Given the description of an element on the screen output the (x, y) to click on. 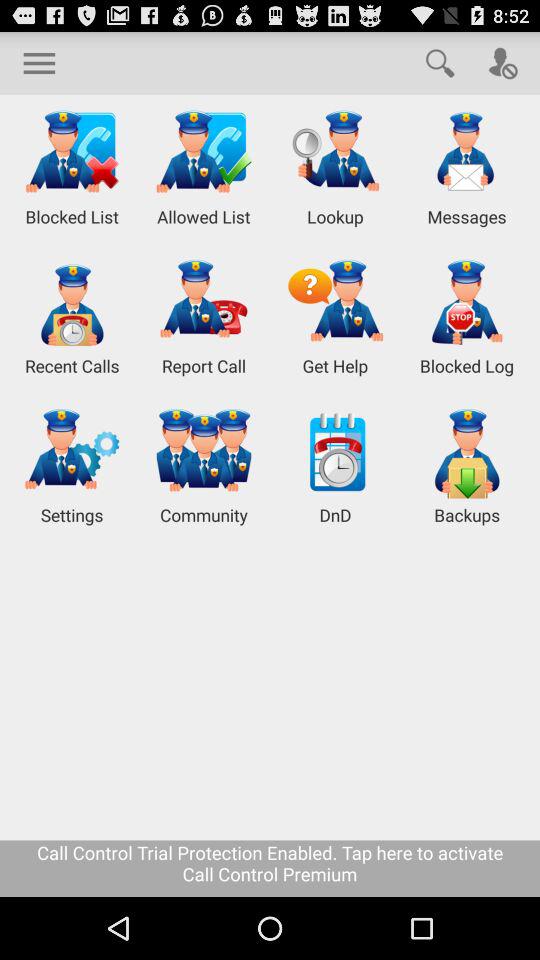
block user (502, 62)
